Given the description of an element on the screen output the (x, y) to click on. 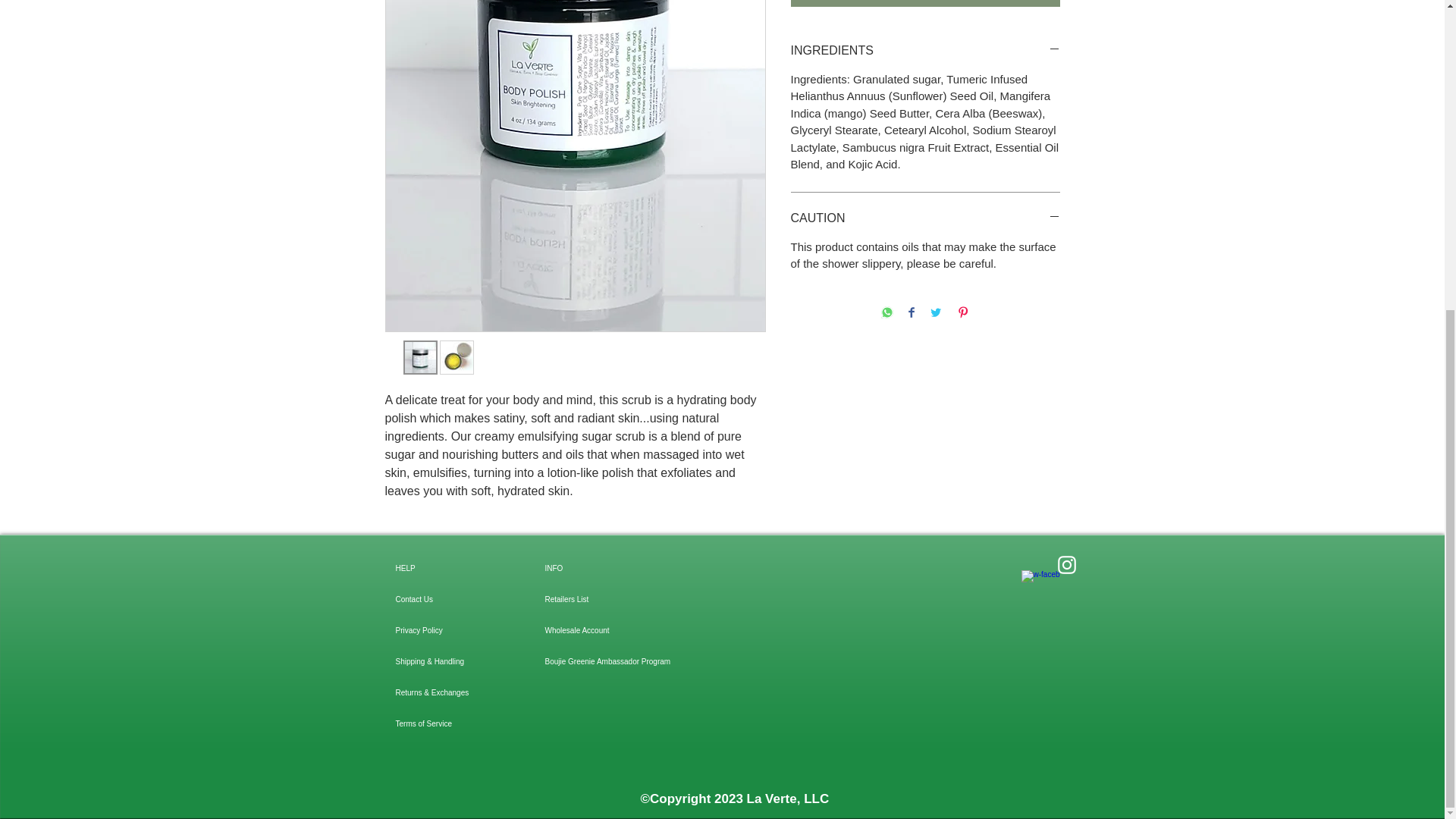
Terms of Service (449, 723)
CAUTION (924, 218)
Wholesale Account (597, 630)
Contact Us (449, 599)
Boujie Greenie Ambassador Program (597, 661)
INGREDIENTS (924, 50)
Privacy Policy (449, 630)
Add to Cart (924, 3)
Retailers List (597, 599)
